Given the description of an element on the screen output the (x, y) to click on. 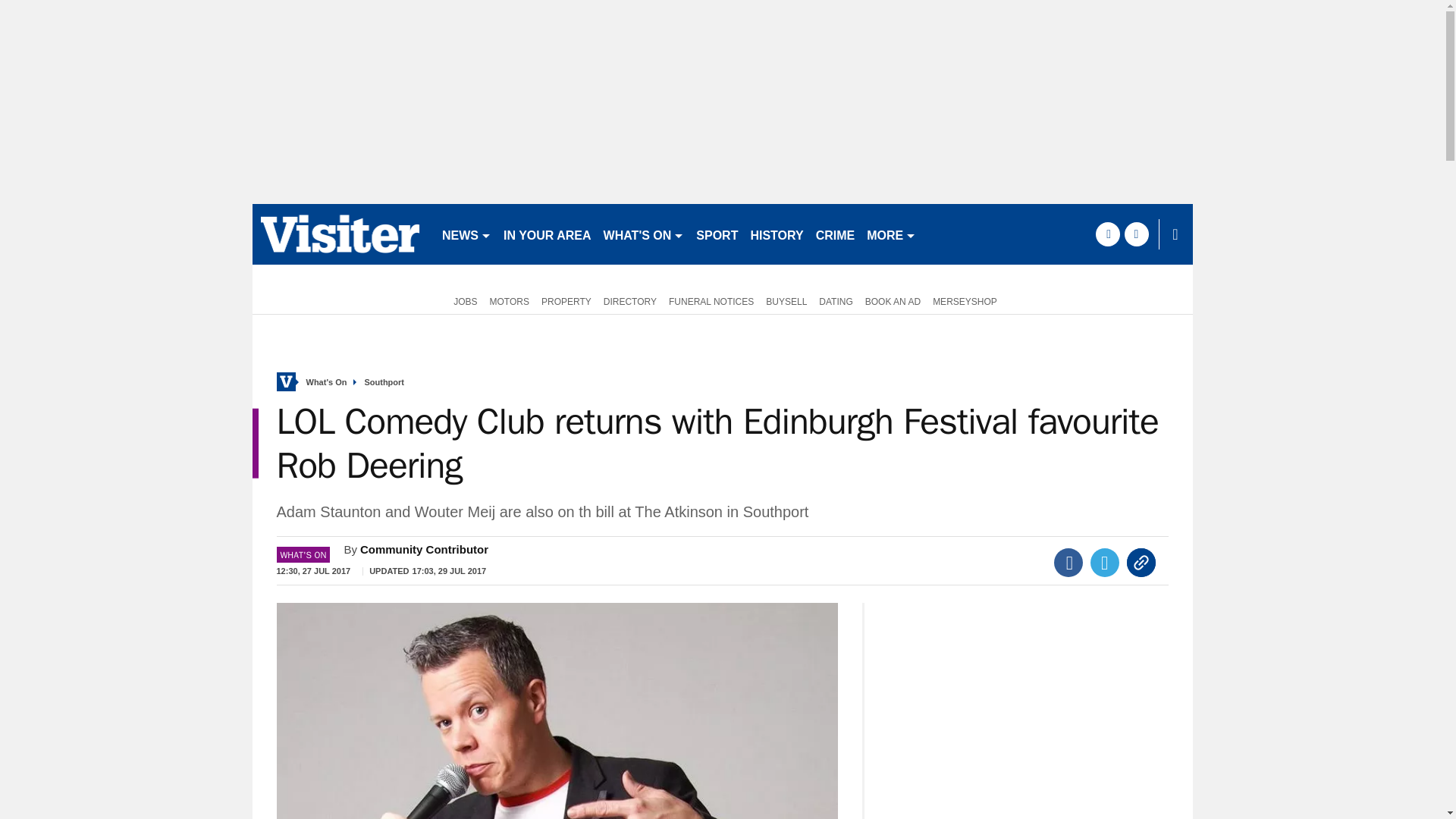
BOOK AN AD (892, 300)
HISTORY (776, 233)
FUNERAL NOTICES (711, 300)
Facebook (1068, 562)
facebook (1106, 233)
WHAT'S ON (643, 233)
PROPERTY (565, 300)
MERSEYSHOP (964, 300)
DATING (835, 300)
IN YOUR AREA (546, 233)
JOBS (462, 300)
DIRECTORY (629, 300)
BUYSELL (786, 300)
MOTORS (509, 300)
NEWS (466, 233)
